Given the description of an element on the screen output the (x, y) to click on. 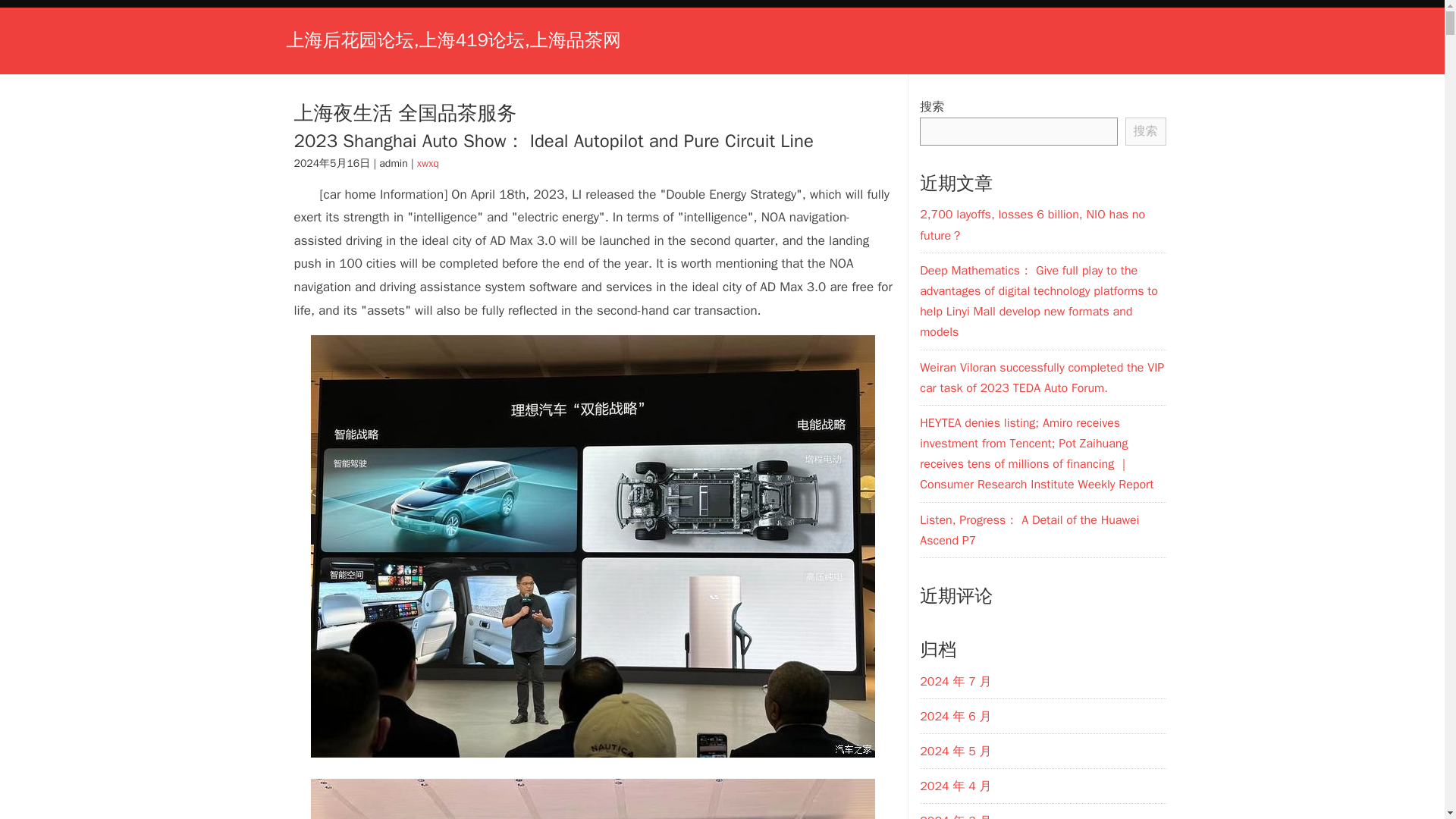
xwxq (427, 163)
